Given the description of an element on the screen output the (x, y) to click on. 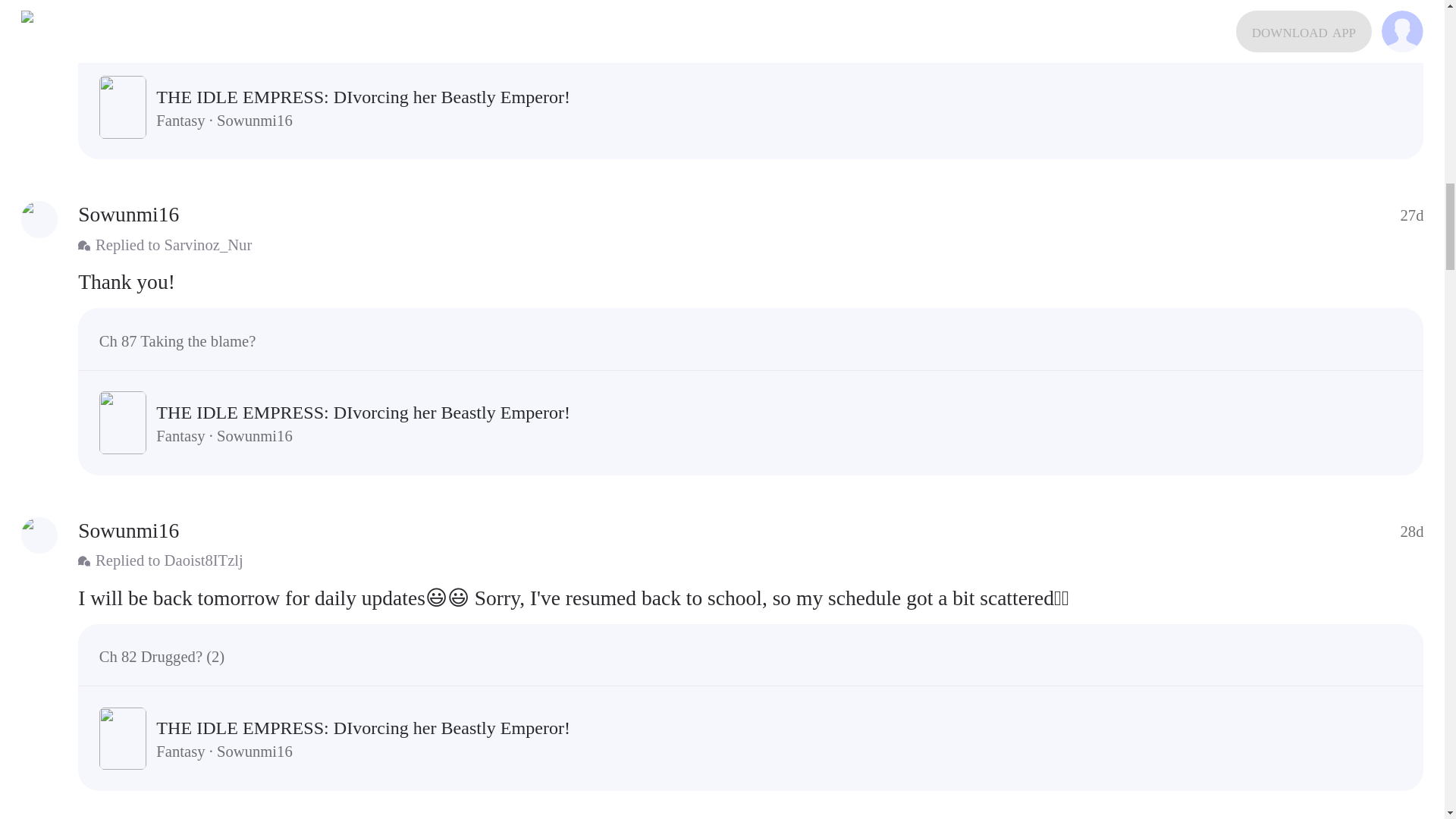
reply (750, 281)
reply (750, 597)
